Given the description of an element on the screen output the (x, y) to click on. 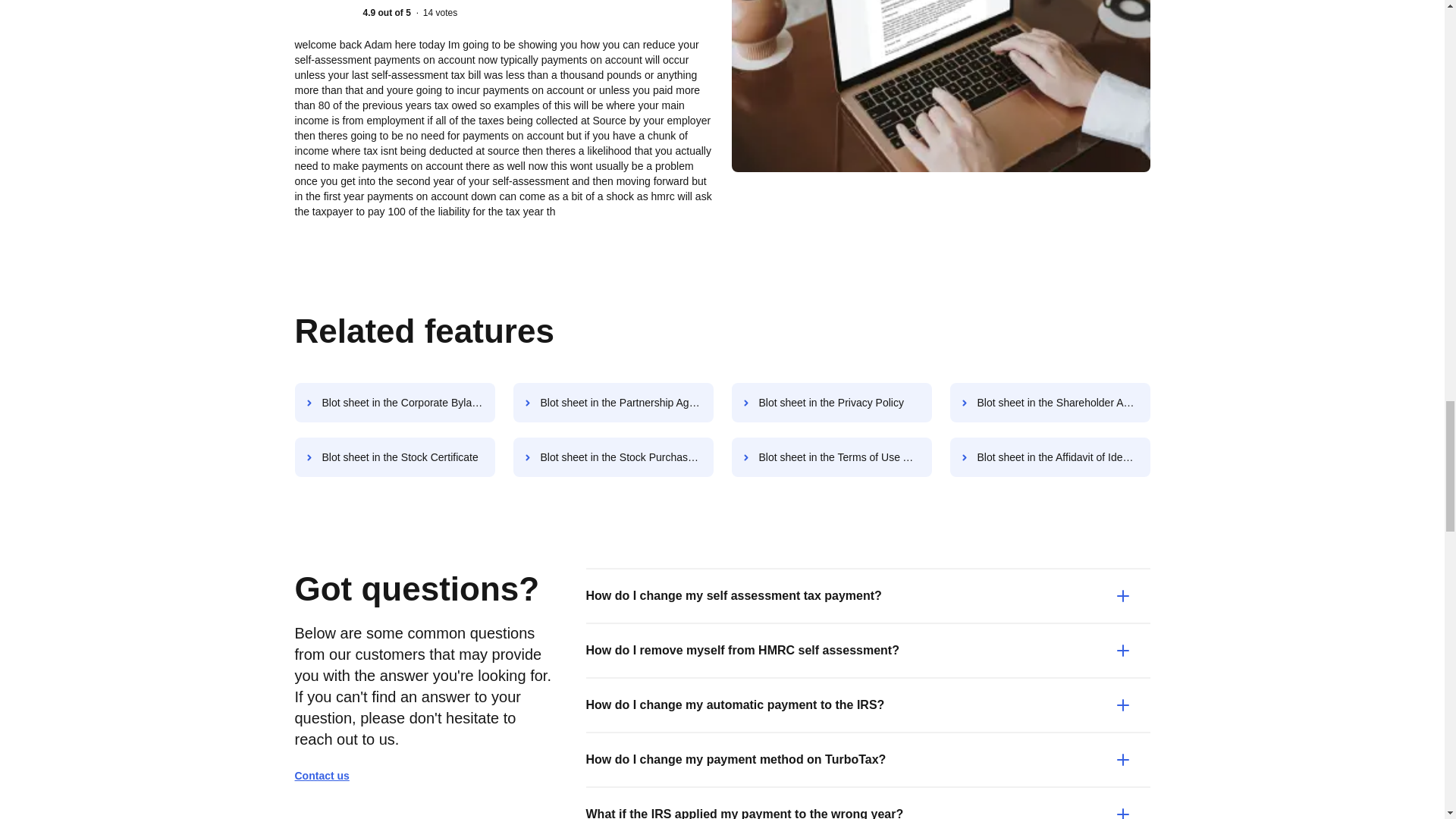
Blot sheet in the Stock Purchase Agreement (612, 456)
Blot sheet in the Stock Certificate (394, 456)
Blot sheet in the Affidavit of Identity (1049, 456)
Blot sheet in the Partnership Agreement Amendment (612, 402)
Contact us (328, 775)
Blot sheet in the Corporate Bylaws (394, 402)
Blot sheet in the Terms of Use Agreement (830, 456)
Blot sheet in the Shareholder Agreement (1049, 402)
Blot sheet in the Privacy Policy (830, 402)
